Given the description of an element on the screen output the (x, y) to click on. 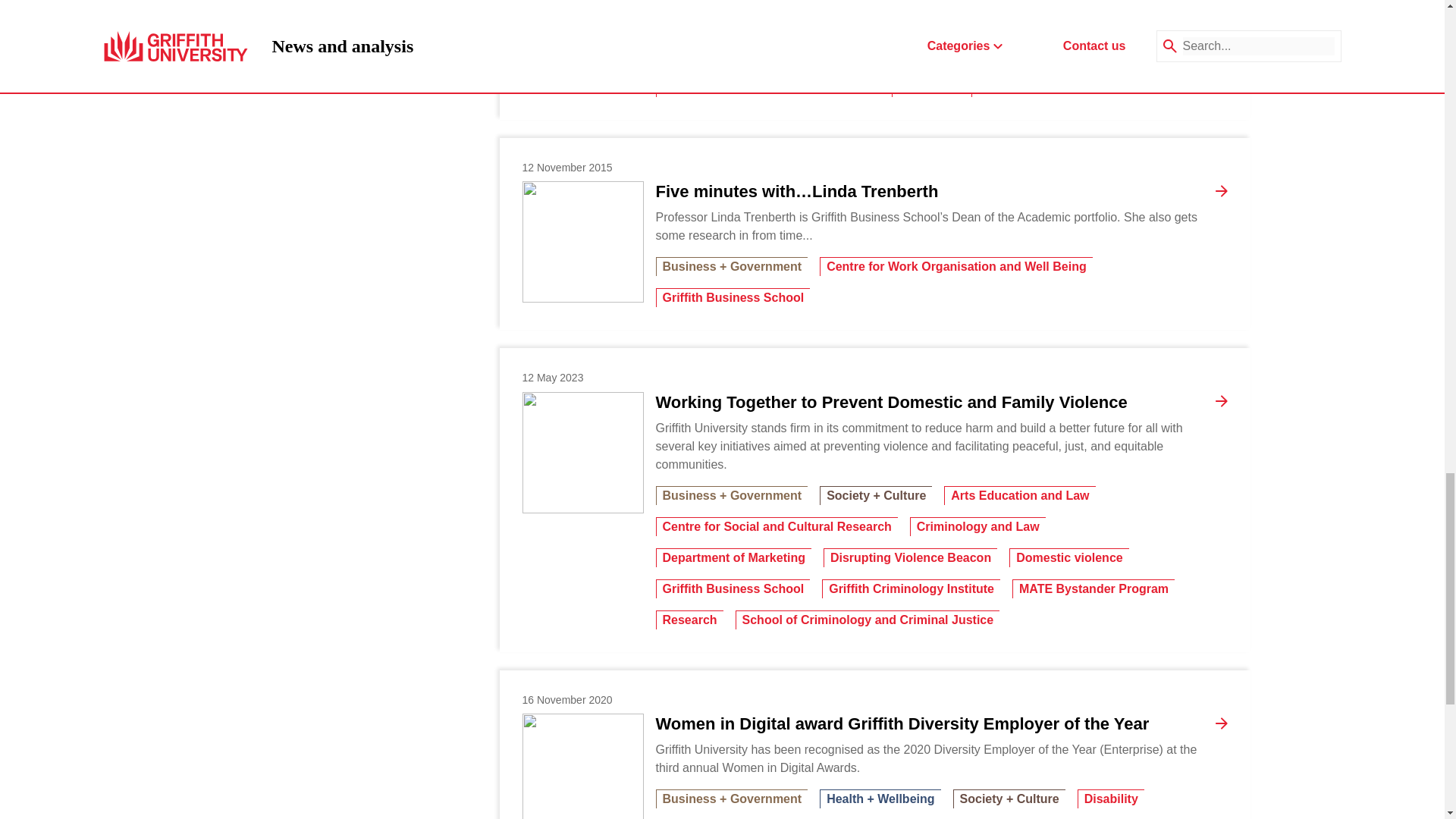
Griffith study finds stress can be contagious (582, 46)
Working Together to Prevent Domestic and Family Violence (582, 452)
Working Together to Prevent Domestic and Family Violence (890, 402)
